Given the description of an element on the screen output the (x, y) to click on. 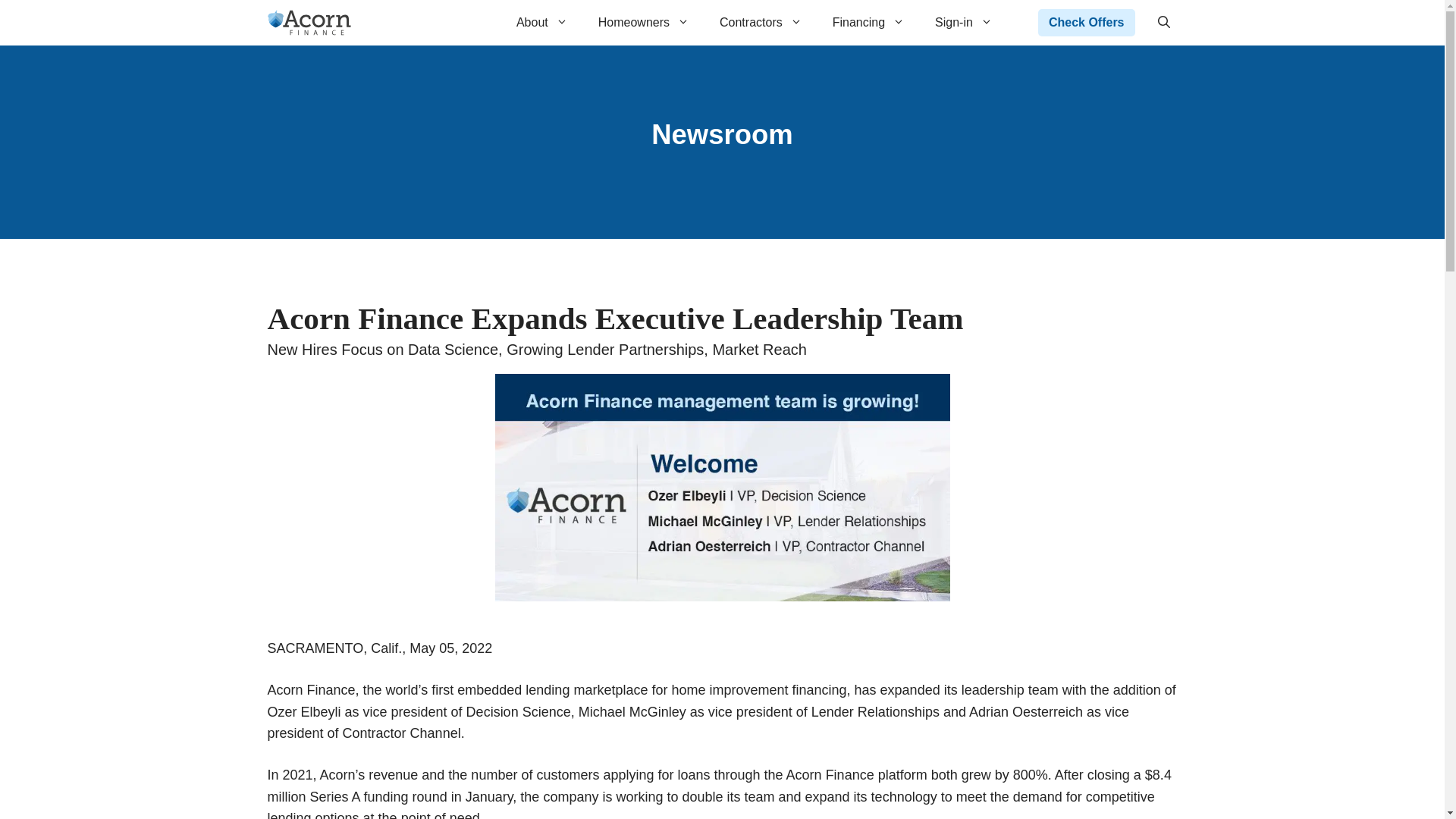
About (541, 22)
Homeowners (643, 22)
